Given the description of an element on the screen output the (x, y) to click on. 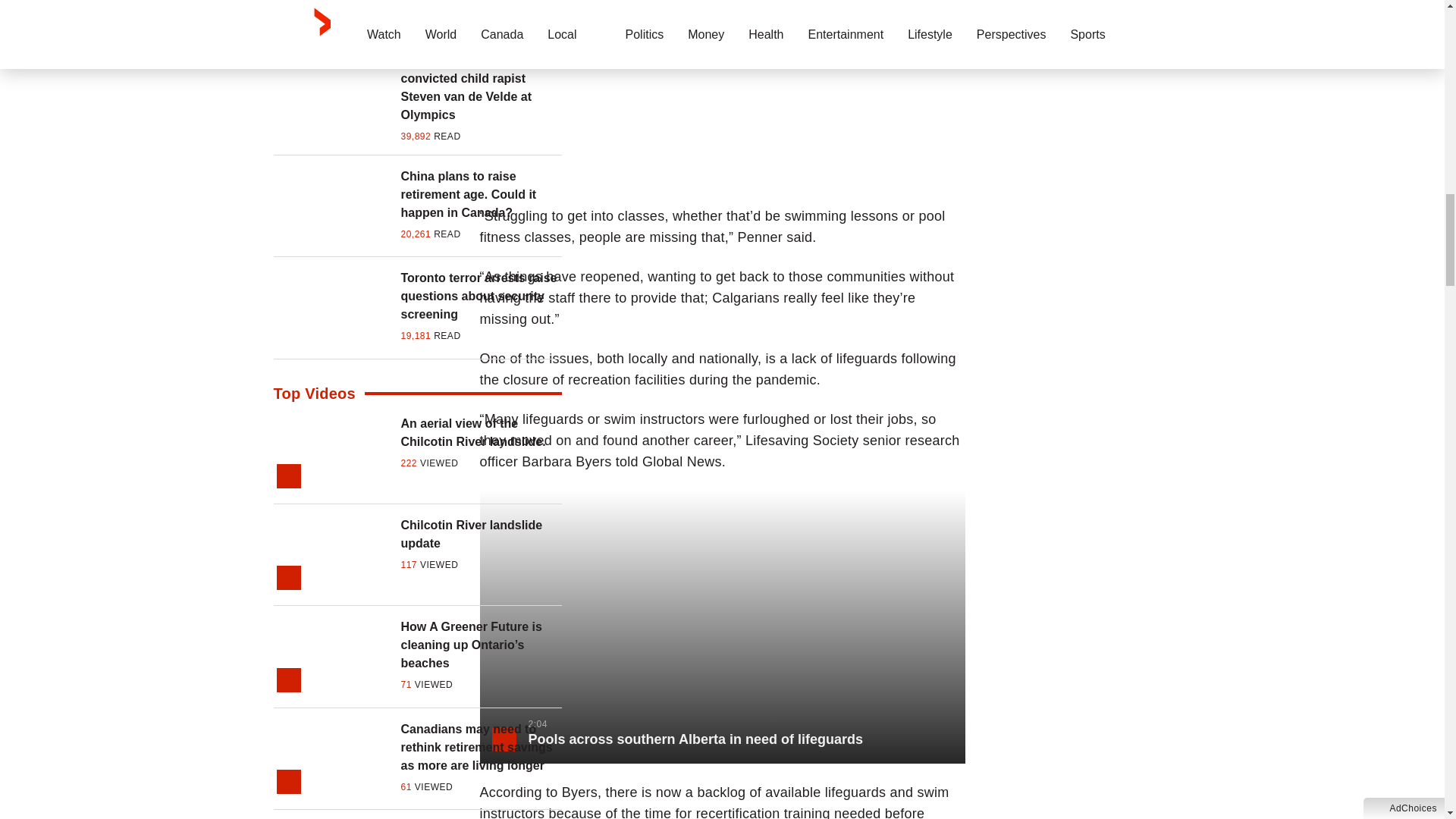
An aerial view of the Chilcotin River landslide. (480, 432)
Chilcotin River landslide update (480, 534)
